Given the description of an element on the screen output the (x, y) to click on. 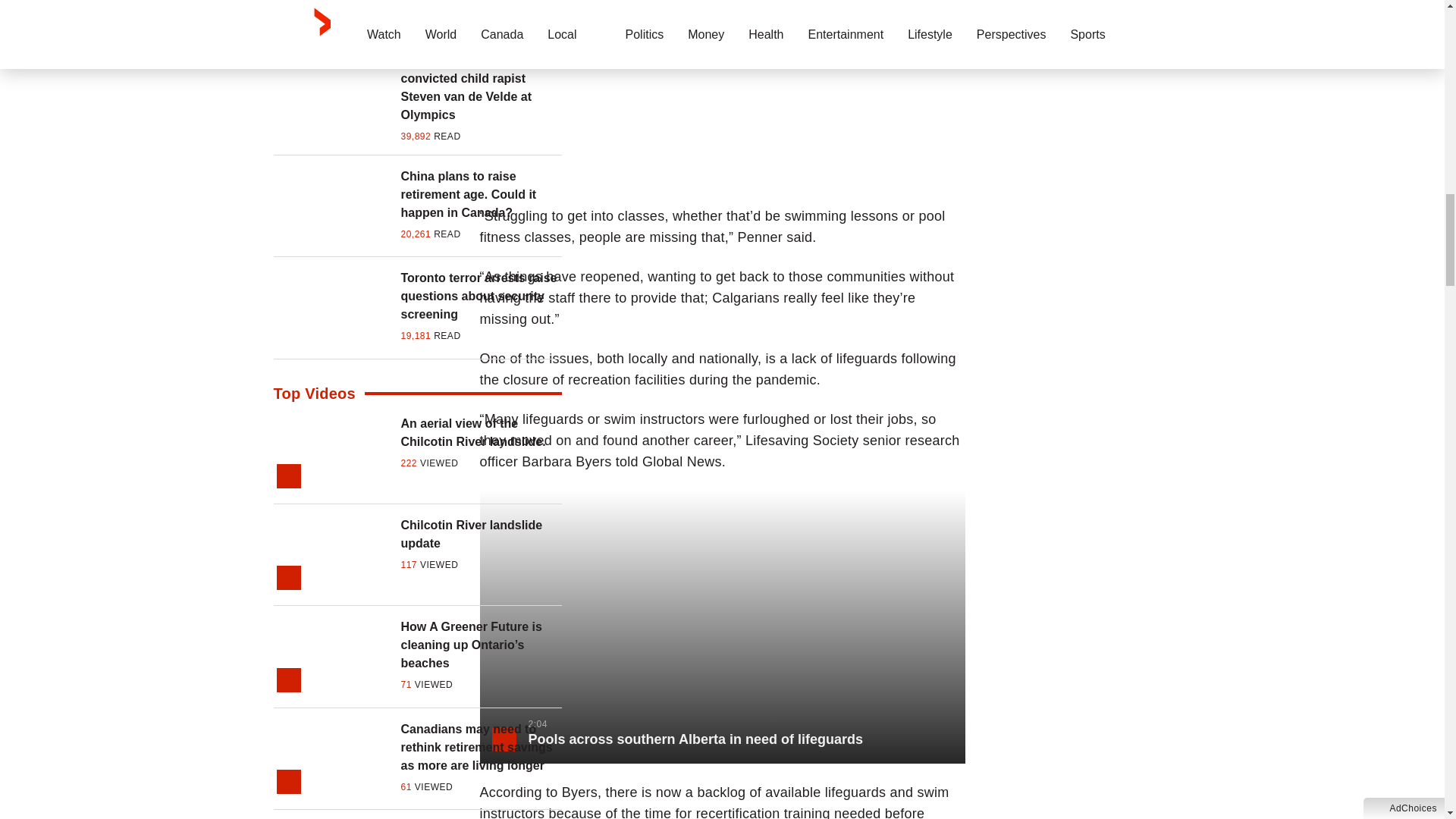
An aerial view of the Chilcotin River landslide. (480, 432)
Chilcotin River landslide update (480, 534)
